Given the description of an element on the screen output the (x, y) to click on. 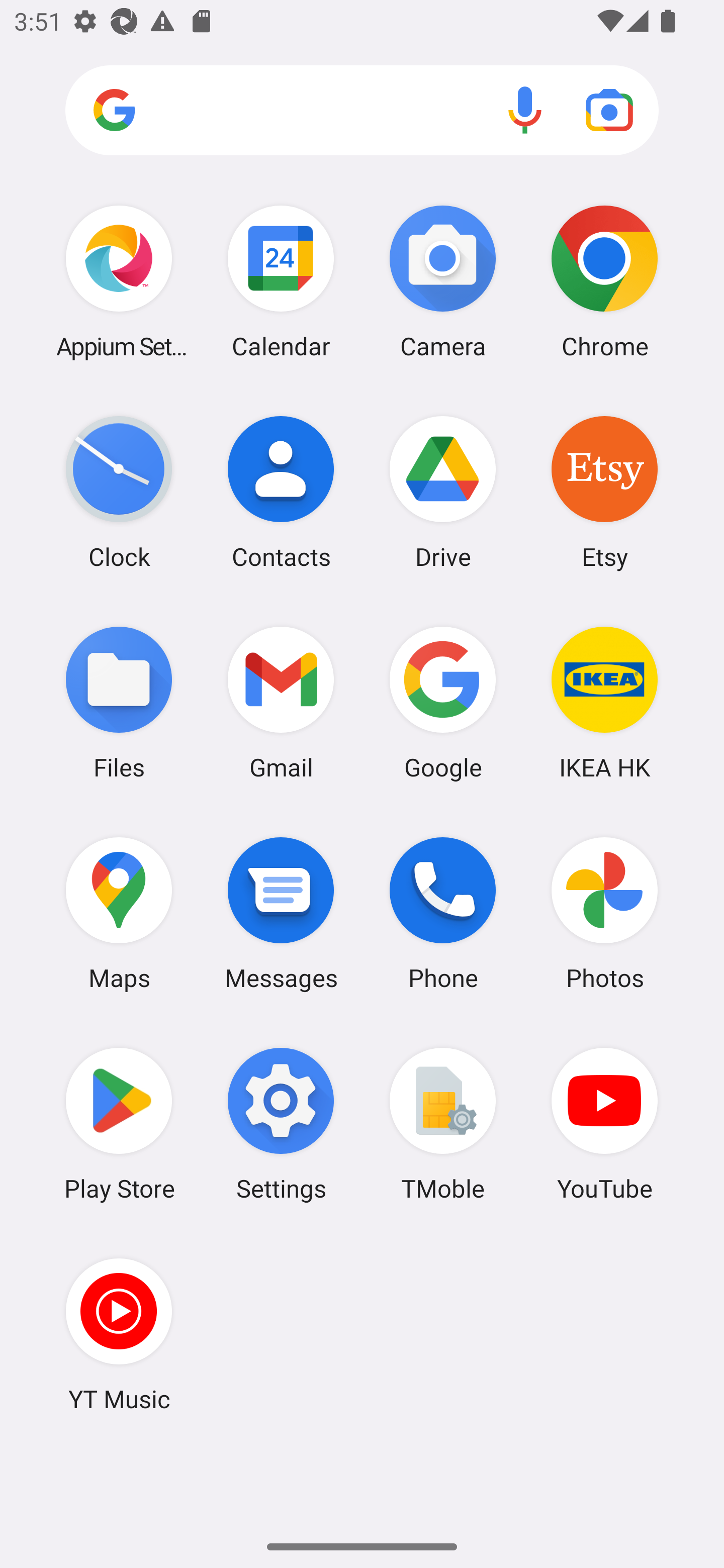
Search apps, web and more (361, 110)
Voice search (524, 109)
Google Lens (608, 109)
Appium Settings (118, 281)
Calendar (280, 281)
Camera (443, 281)
Chrome (604, 281)
Clock (118, 492)
Contacts (280, 492)
Drive (443, 492)
Etsy (604, 492)
Files (118, 702)
Gmail (280, 702)
Google (443, 702)
IKEA HK (604, 702)
Maps (118, 913)
Messages (280, 913)
Phone (443, 913)
Photos (604, 913)
Play Store (118, 1124)
Settings (280, 1124)
TMoble (443, 1124)
YouTube (604, 1124)
YT Music (118, 1334)
